Given the description of an element on the screen output the (x, y) to click on. 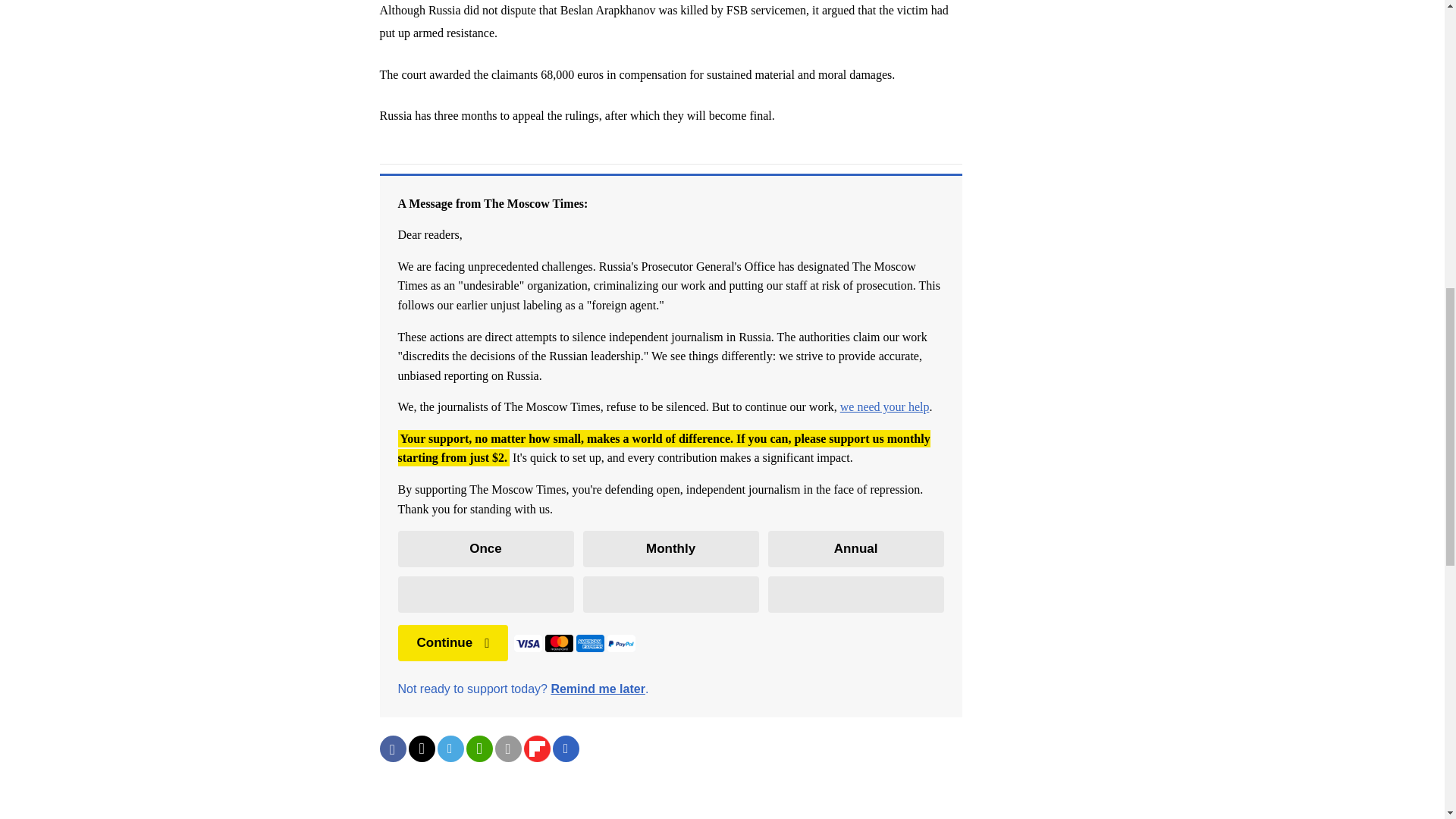
Share on Flipboard (536, 748)
we need your help (885, 406)
Share on Telegram (449, 748)
Share on Facebook (392, 748)
Share on Twitter (420, 748)
